Given the description of an element on the screen output the (x, y) to click on. 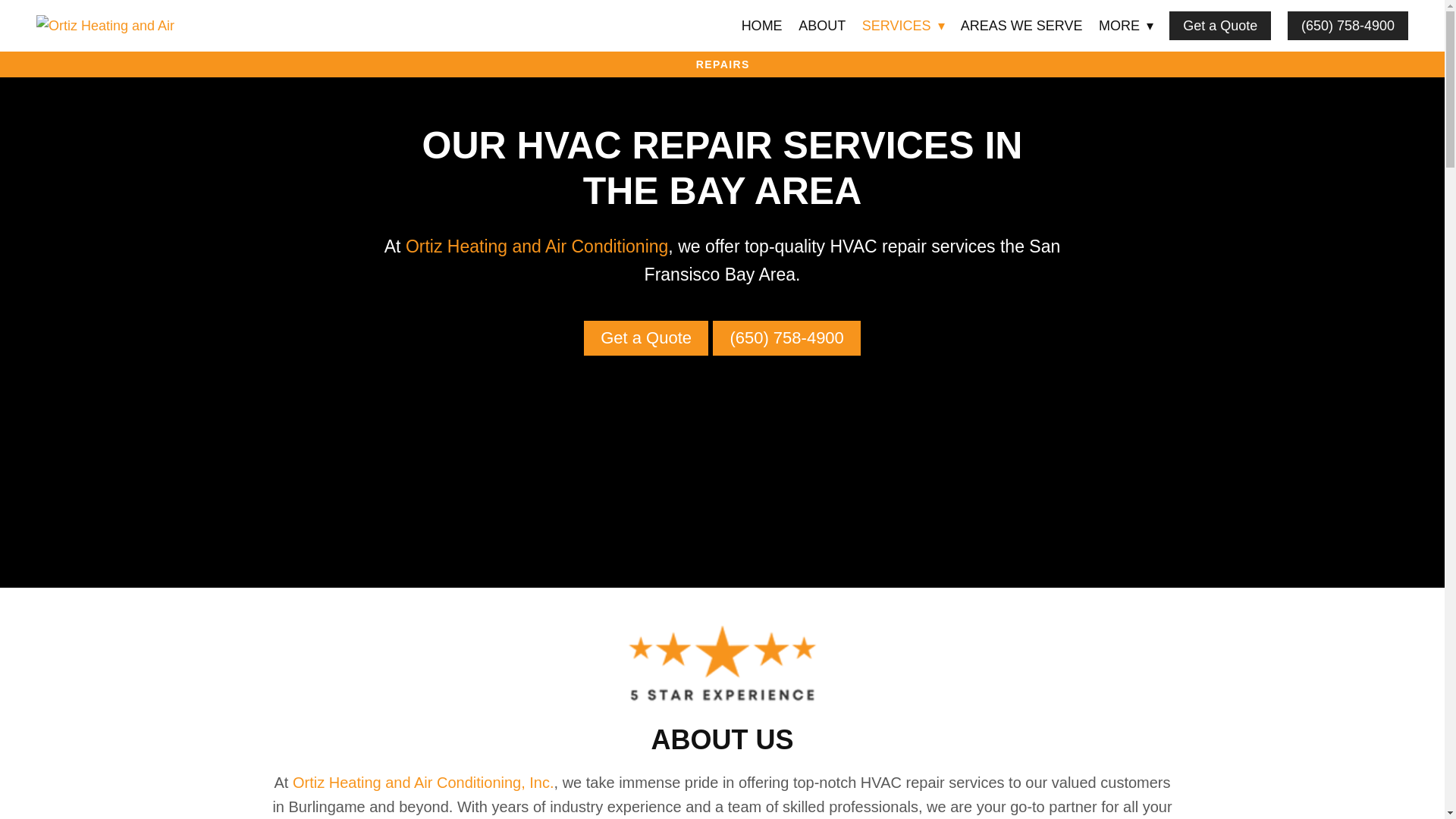
Ortiz Heating and Air (145, 25)
ABOUT (821, 25)
Ortiz Heating and Air Conditioning, Inc. (423, 782)
Get a Quote (645, 338)
Ortiz Heating and Air Conditioning (537, 246)
5 Star Experience (721, 663)
HOME (762, 25)
Get a Quote (1220, 25)
AREAS WE SERVE (1021, 25)
